Given the description of an element on the screen output the (x, y) to click on. 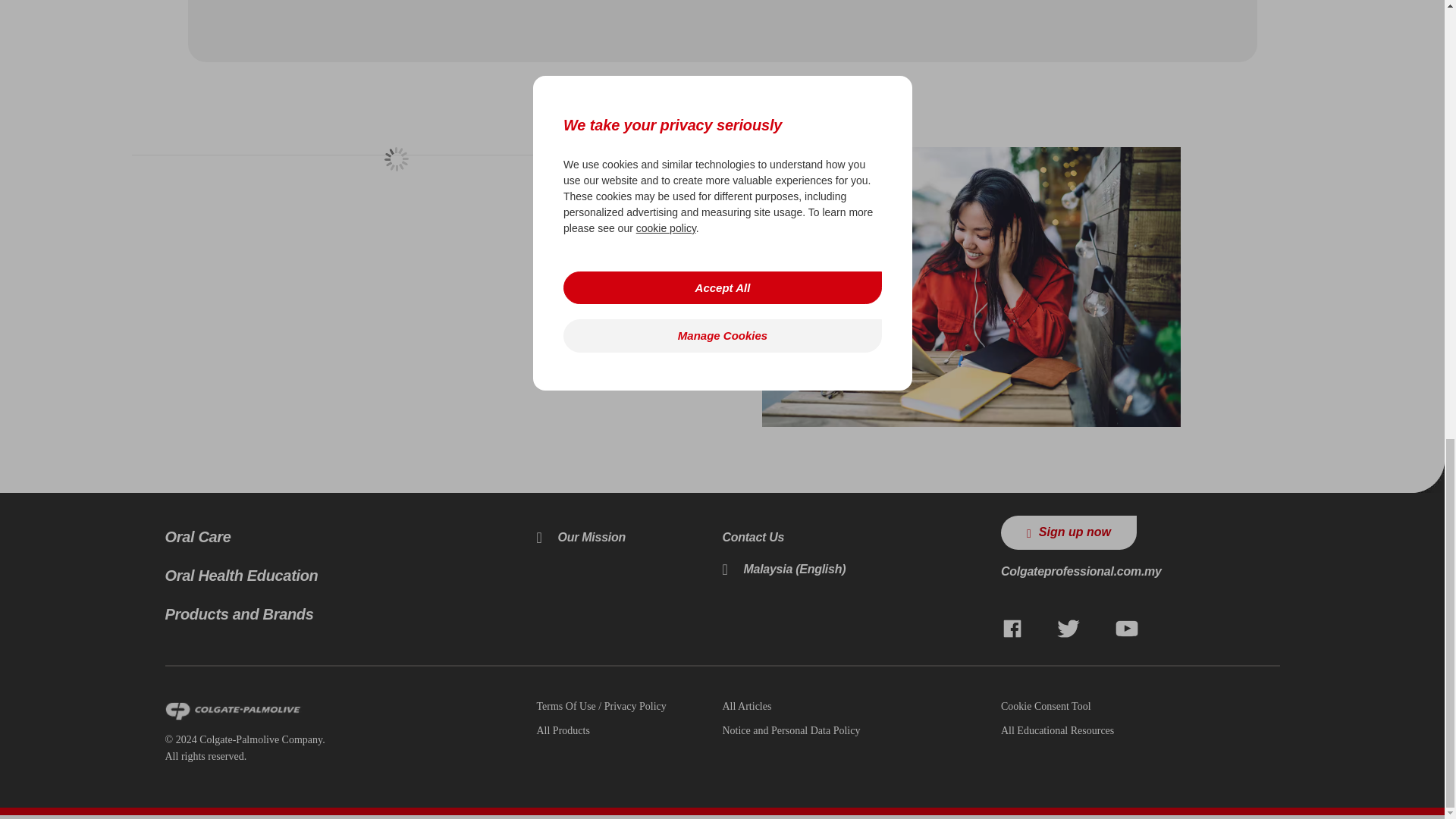
gray curved footer (1427, 476)
Facebook (1012, 629)
Our Mission (579, 536)
YouTube (1126, 629)
Twitter (1067, 629)
Girl smiling (970, 286)
